Given the description of an element on the screen output the (x, y) to click on. 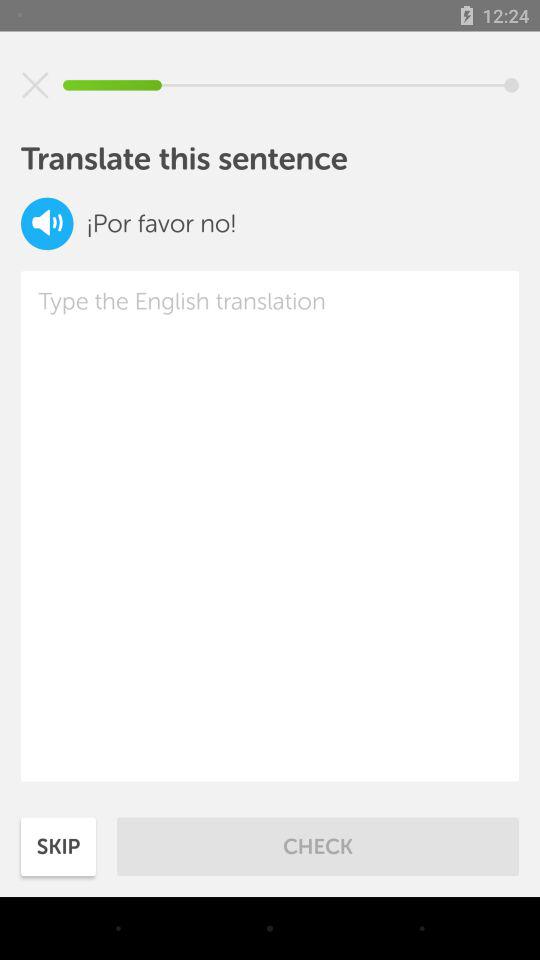
hear sentence (47, 223)
